Given the description of an element on the screen output the (x, y) to click on. 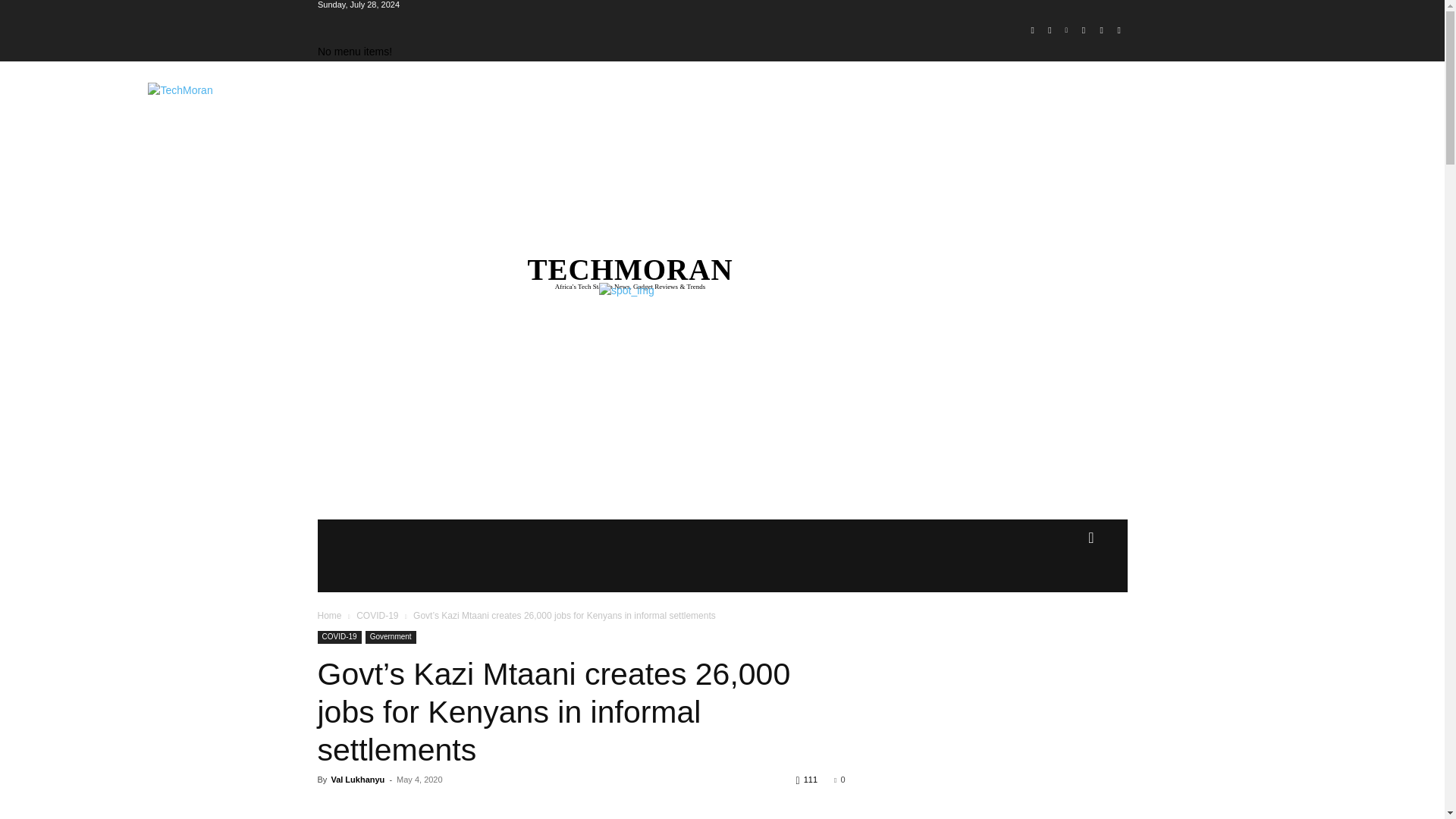
Instagram (1049, 30)
Youtube (1117, 30)
Twitter (1101, 30)
Linkedin (1066, 30)
View all posts in COVID-19 (376, 615)
Facebook (1032, 30)
Telegram (1084, 30)
